Given the description of an element on the screen output the (x, y) to click on. 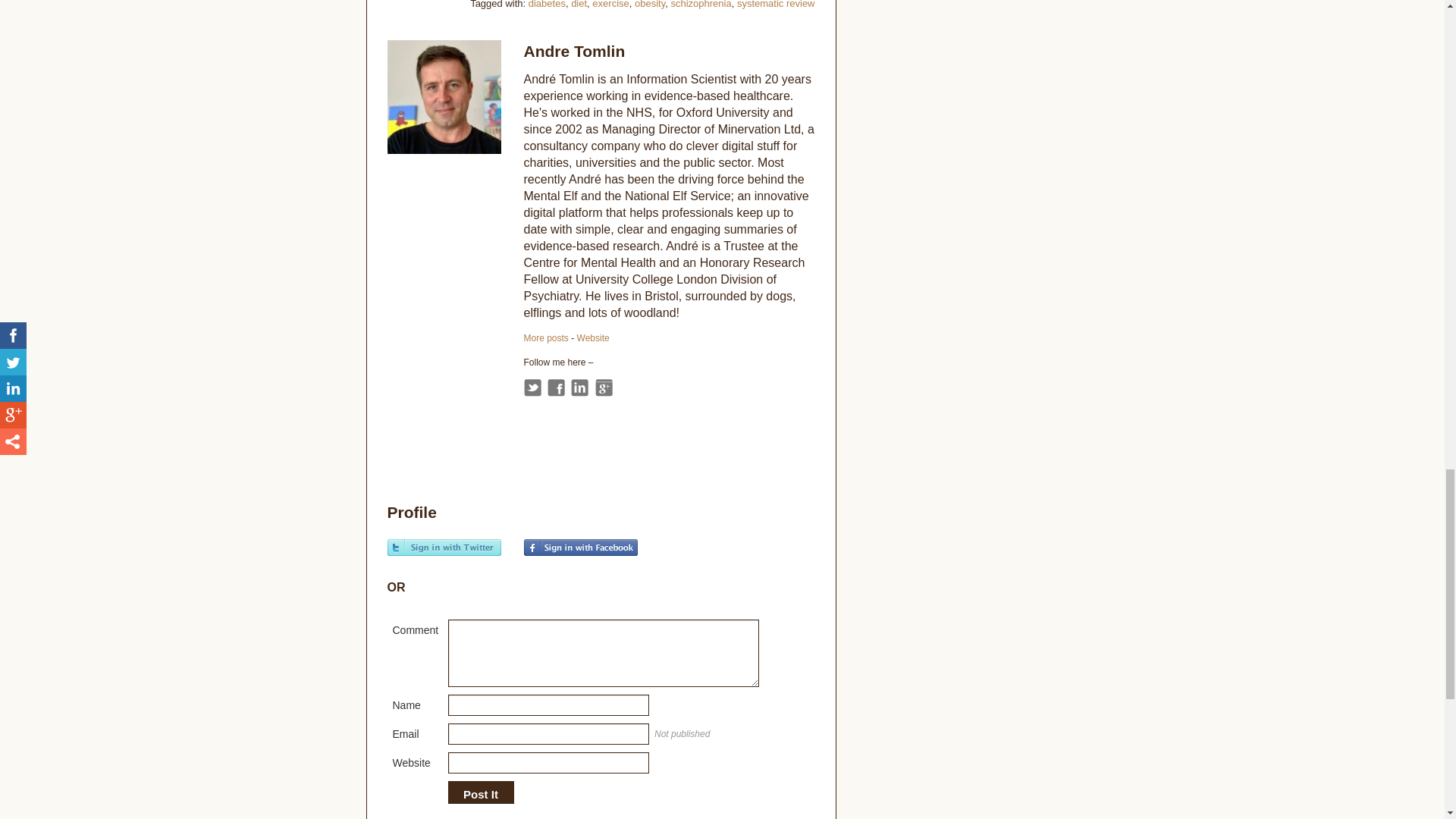
Andre Tomlin (573, 50)
Twitter (531, 387)
Facebook (555, 387)
Post It (479, 794)
Andre Tomlin (544, 337)
